Given the description of an element on the screen output the (x, y) to click on. 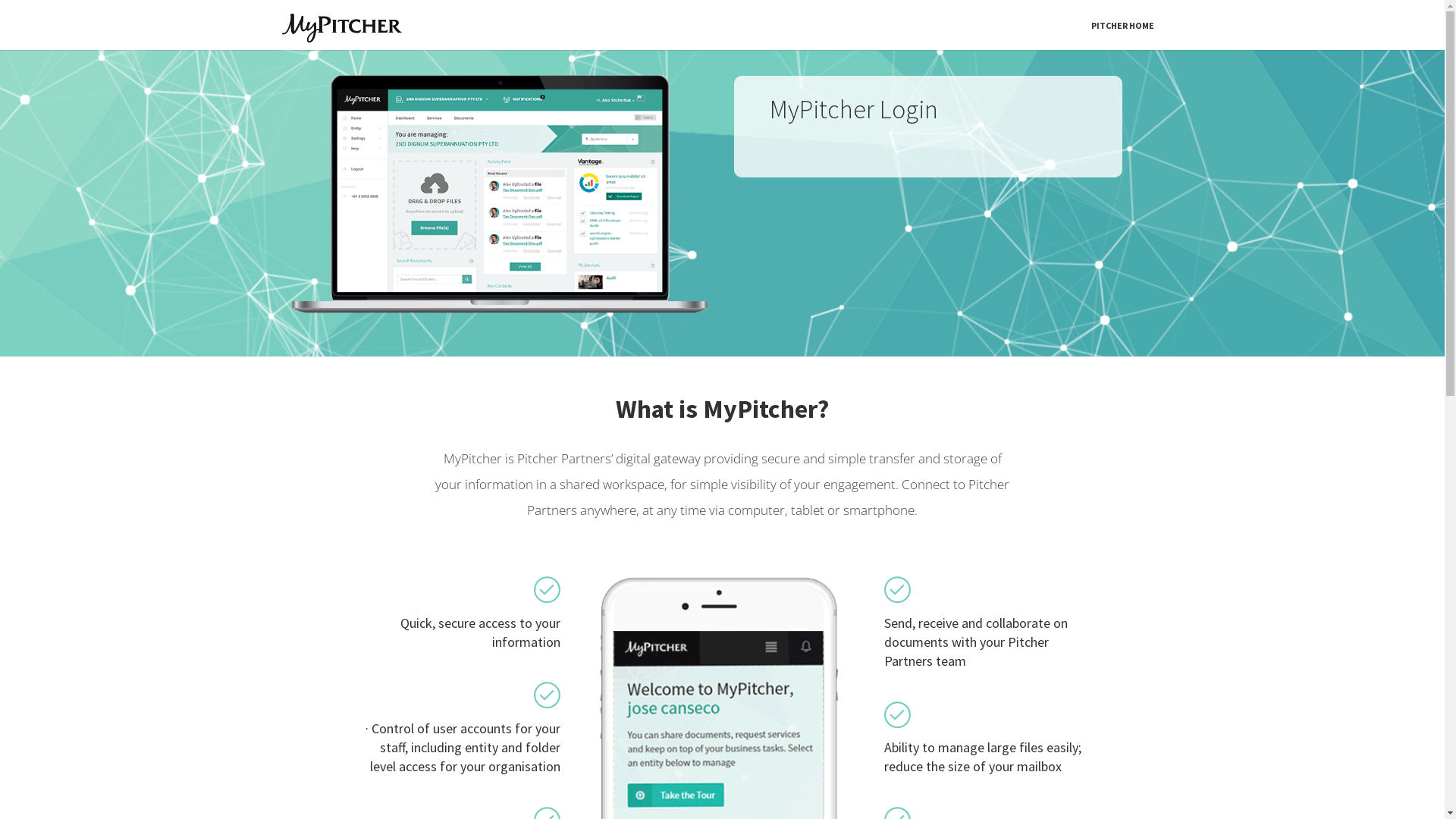
PITCHER HOME Element type: text (1122, 25)
